Given the description of an element on the screen output the (x, y) to click on. 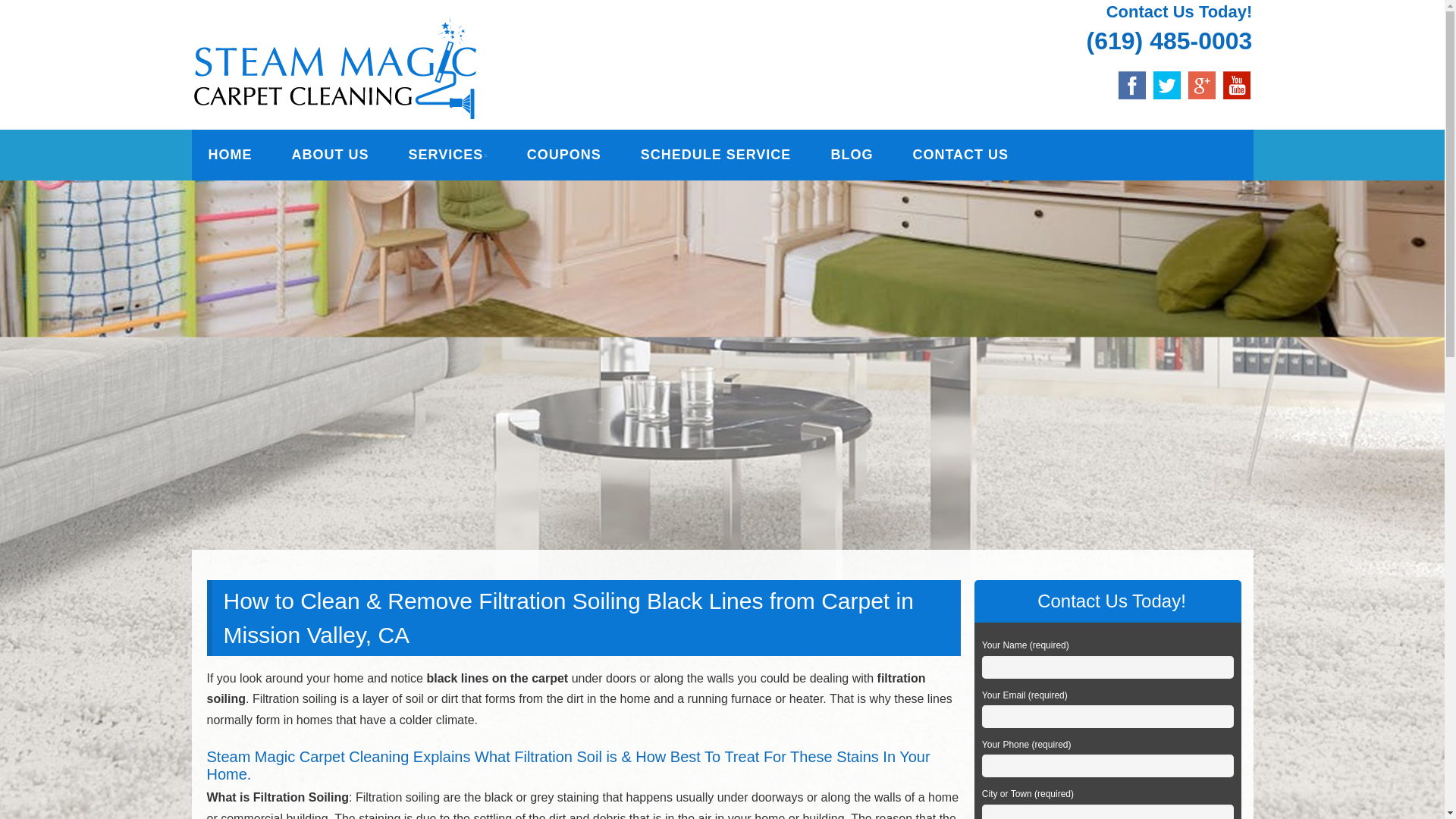
CONTACT US (960, 154)
COUPONS (563, 154)
HOME (229, 154)
SCHEDULE SERVICE (716, 154)
Steam Magic Carpet Cleaning (459, 35)
BLOG (851, 154)
SERVICES (447, 154)
STEAM MAGIC CARPET CLEANING (459, 35)
ABOUT US (329, 154)
